Given the description of an element on the screen output the (x, y) to click on. 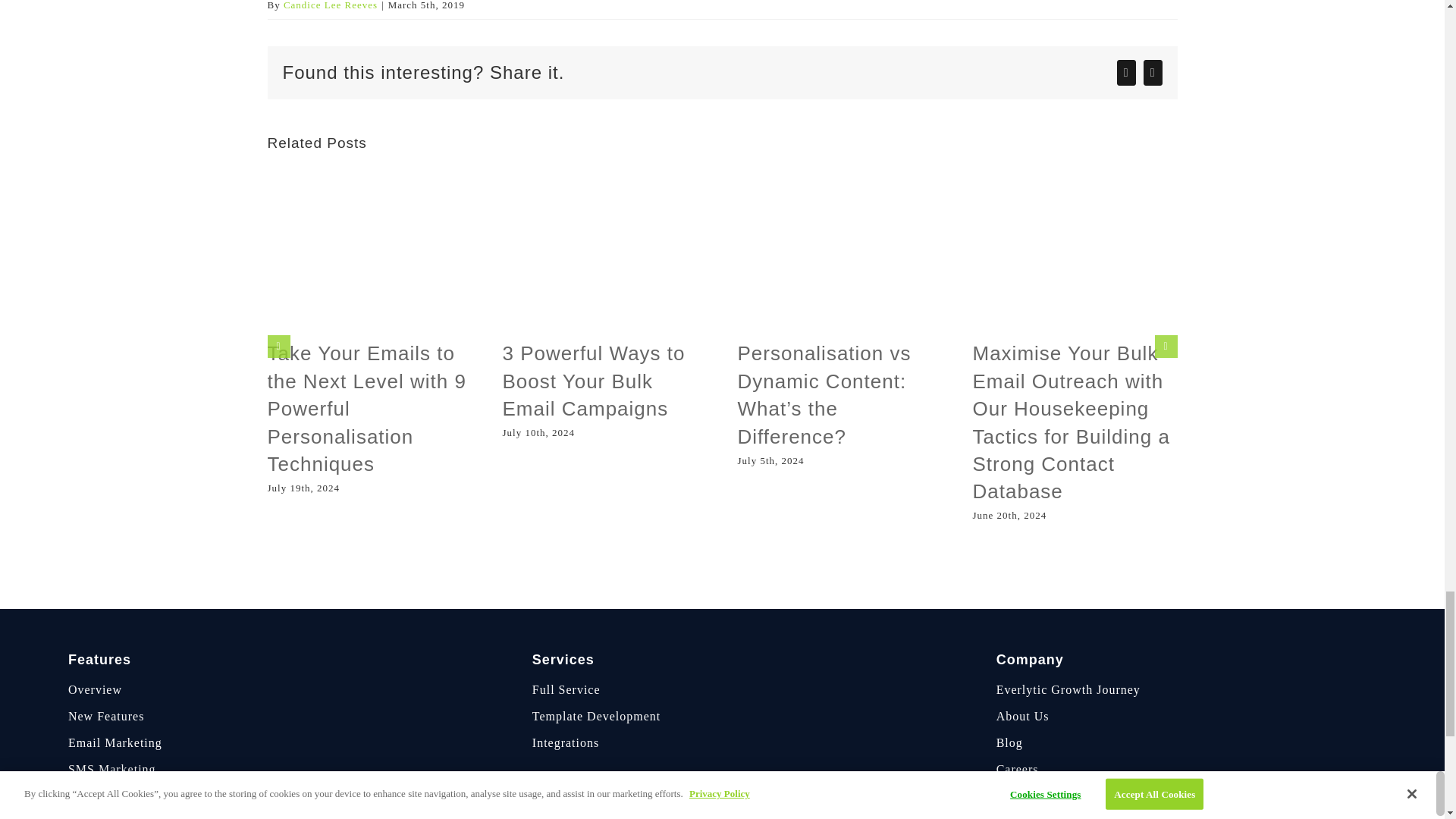
Posts by Candice Lee Reeves (330, 5)
